Given the description of an element on the screen output the (x, y) to click on. 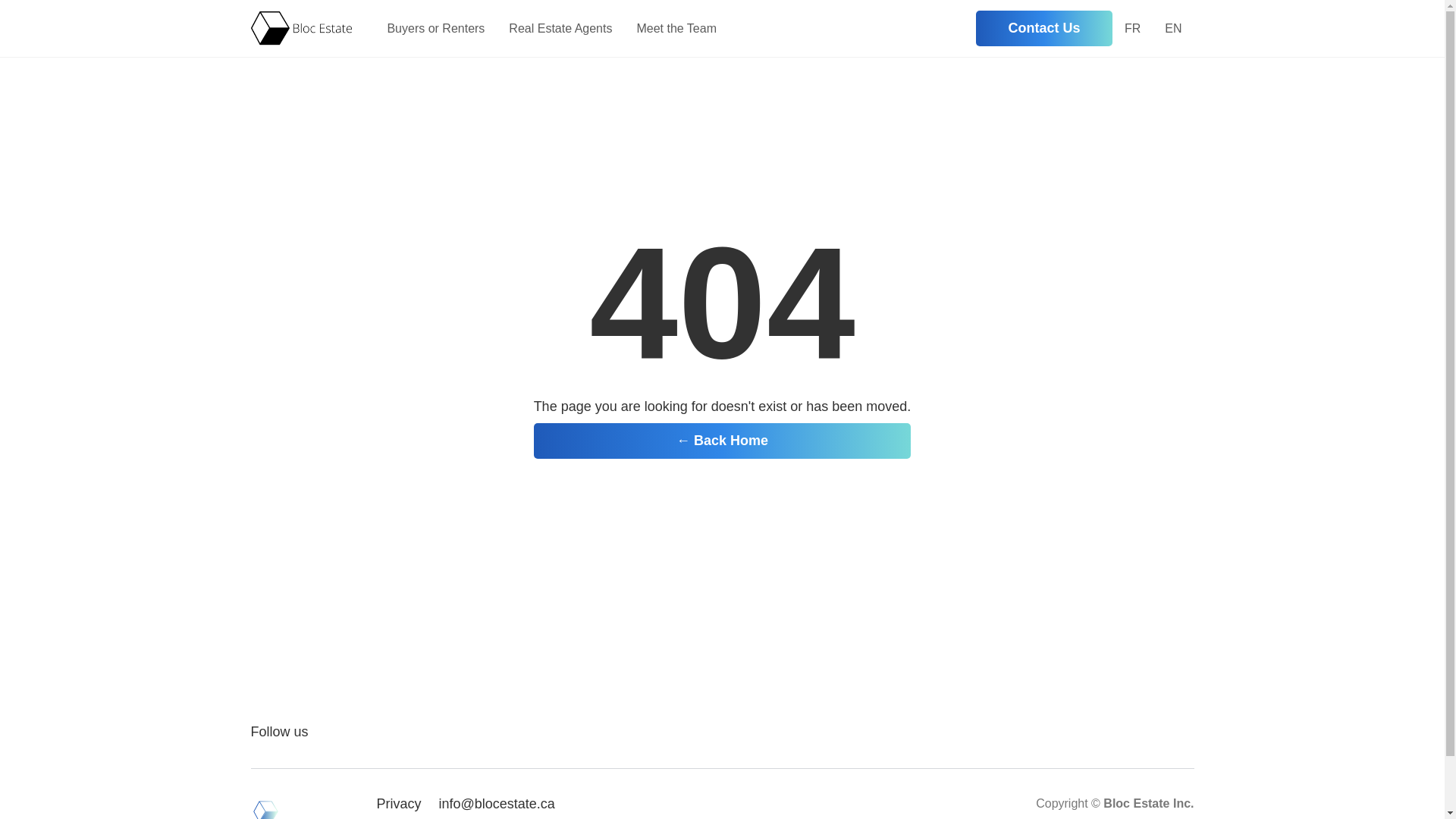
Meet the Team Element type: text (676, 28)
Contact Us Element type: text (1043, 28)
Real Estate Agents Element type: text (560, 28)
FR Element type: text (1132, 28)
EN Element type: text (1172, 28)
info@blocestate.ca Element type: text (497, 806)
Privacy Element type: text (398, 806)
Buyers or Renters Element type: text (435, 28)
